Given the description of an element on the screen output the (x, y) to click on. 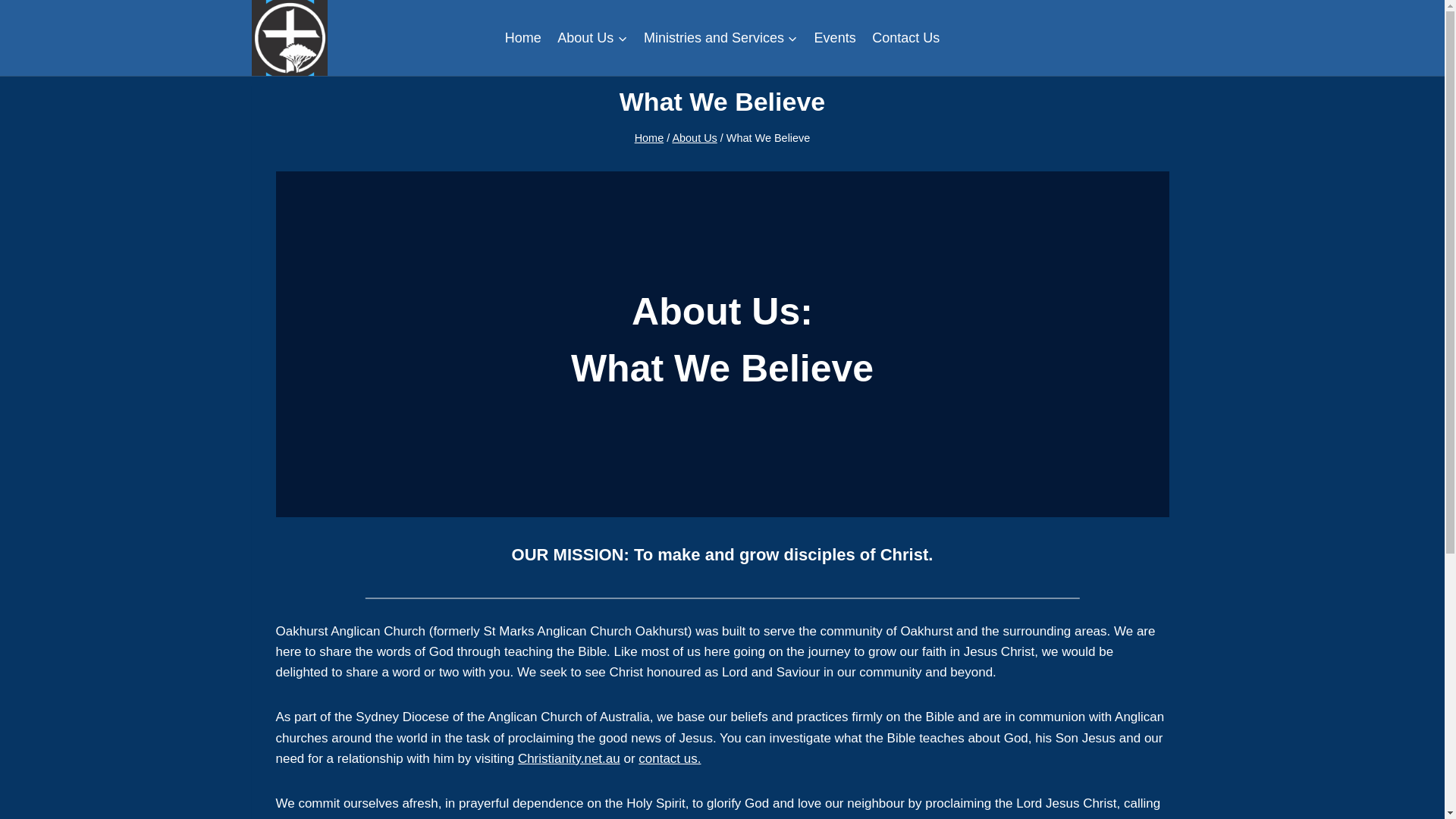
About Us (593, 38)
Home (523, 38)
Christianity.net.au (569, 758)
About Us (693, 137)
contact us. (669, 758)
Home (648, 137)
Events (835, 38)
Contact Us (905, 38)
Ministries and Services (720, 38)
